Given the description of an element on the screen output the (x, y) to click on. 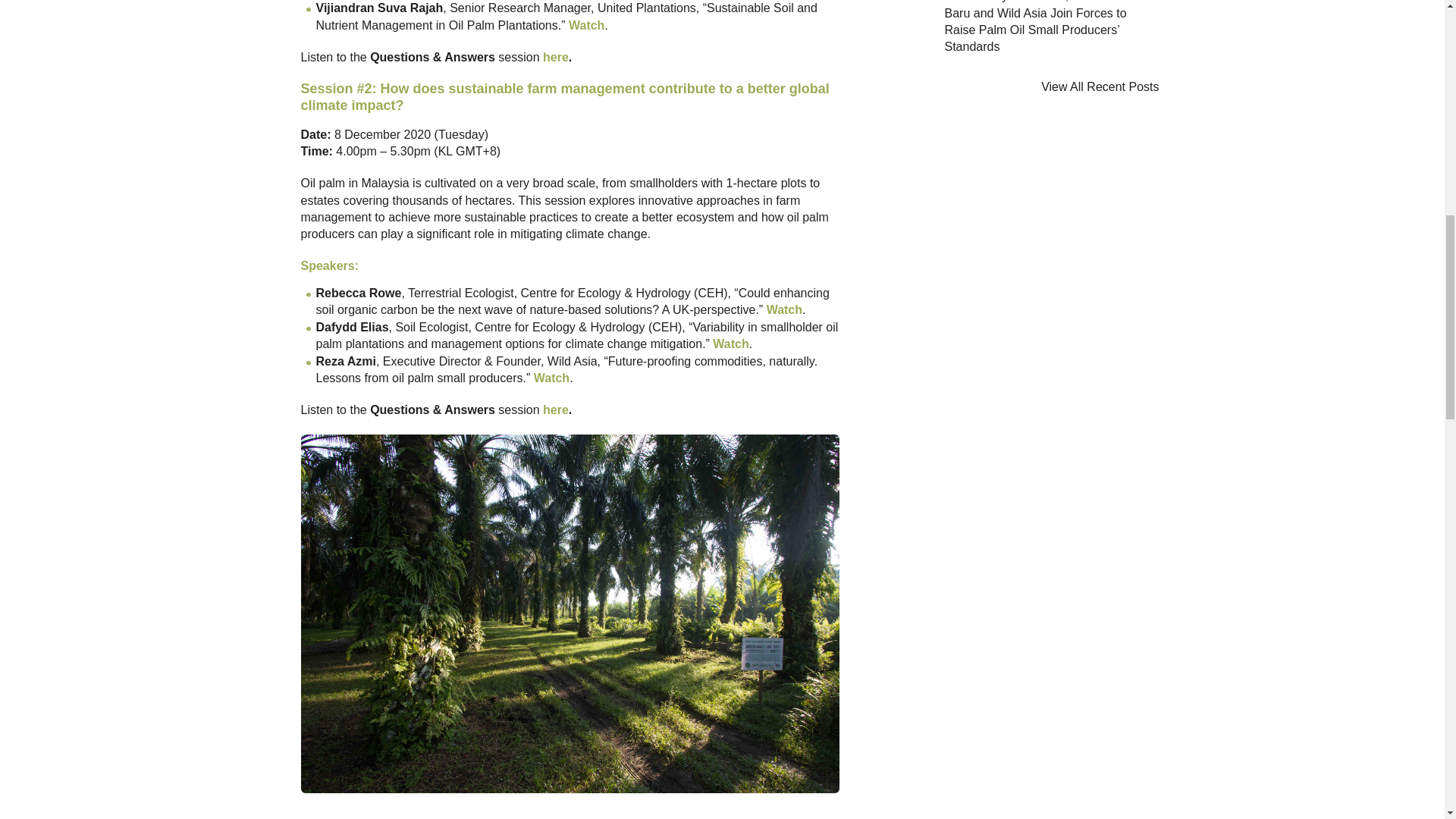
here (556, 56)
Watch (730, 343)
Watch (551, 377)
Watch (784, 309)
Watch (586, 24)
here (556, 409)
